Given the description of an element on the screen output the (x, y) to click on. 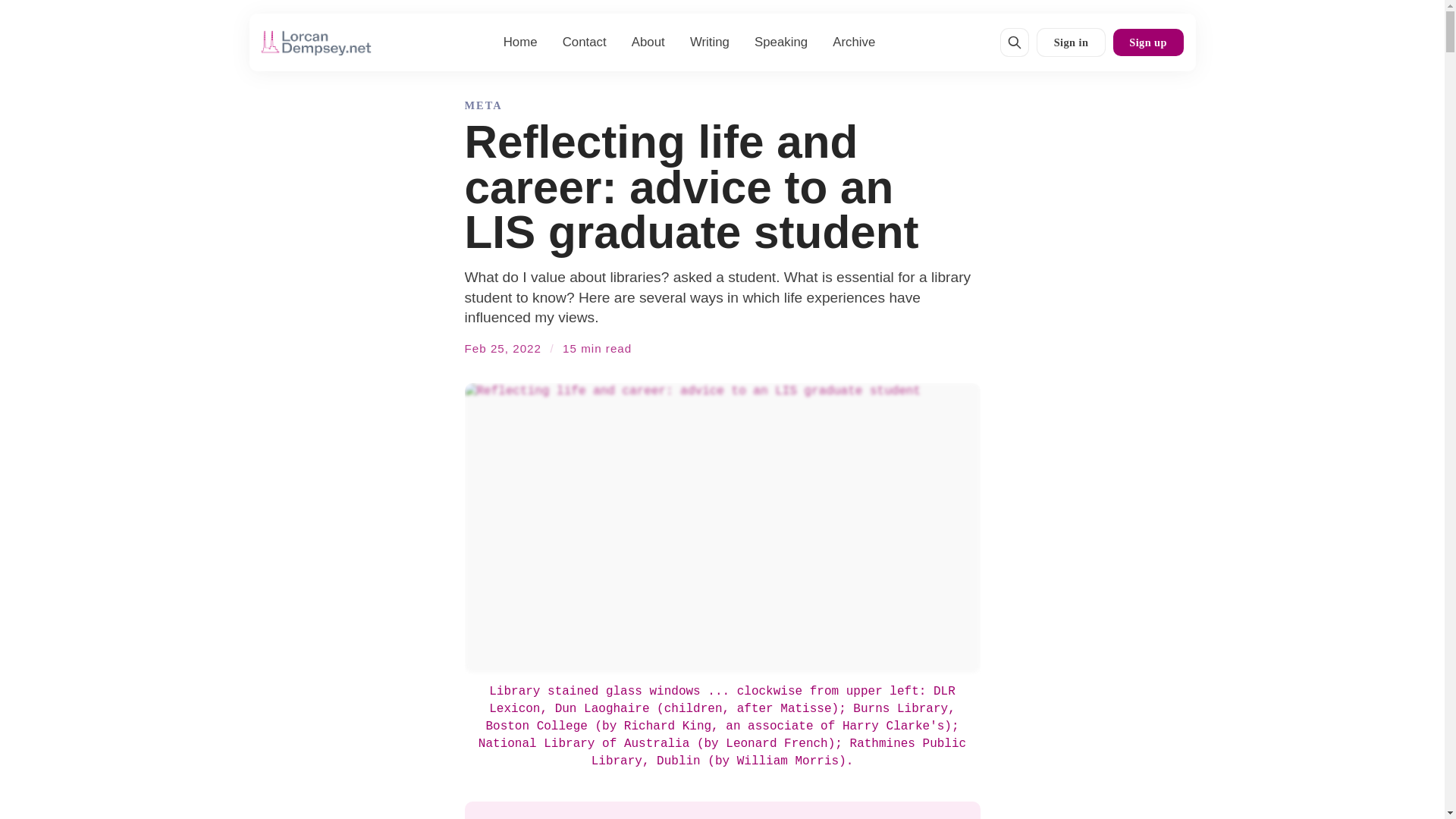
Sign in (1070, 42)
Writing (709, 41)
Search (1014, 42)
Archive (853, 41)
Sign up (1148, 42)
Contact (583, 41)
Home (520, 41)
About (648, 41)
Speaking (781, 41)
META (483, 105)
